Given the description of an element on the screen output the (x, y) to click on. 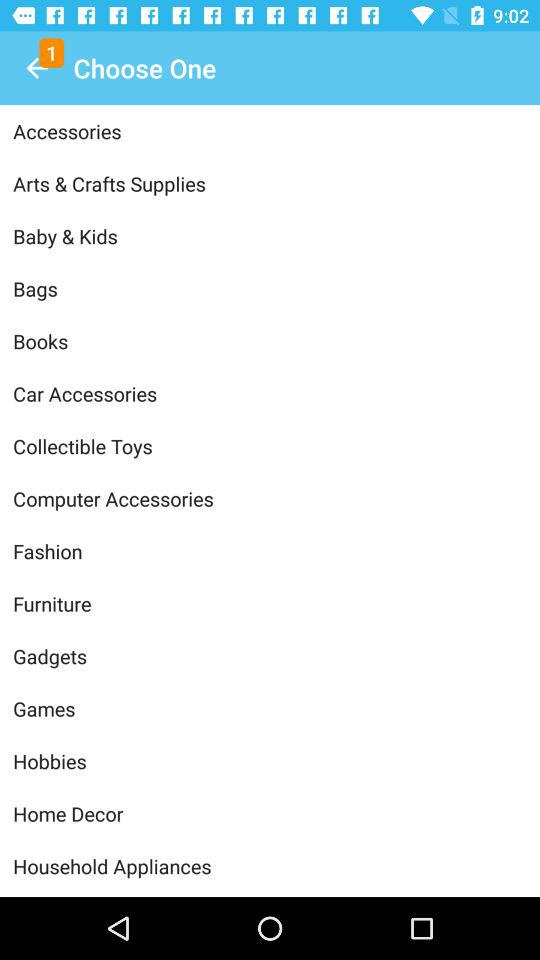
scroll until the home decor item (269, 813)
